Given the description of an element on the screen output the (x, y) to click on. 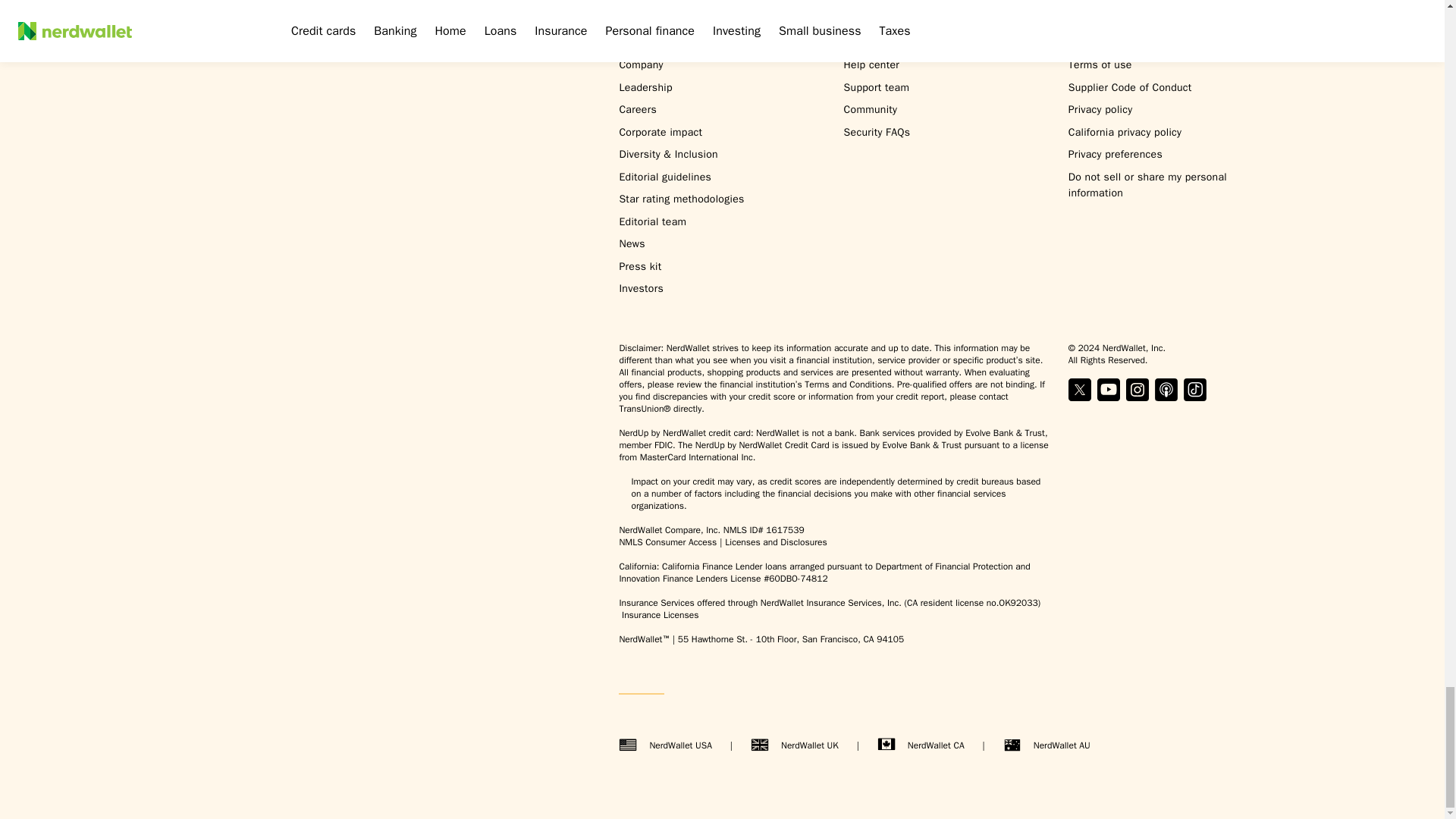
TikTok (1195, 389)
YouTube (1108, 389)
Apple Podcasts (1165, 389)
Instagram (1136, 389)
X (1079, 389)
